Given the description of an element on the screen output the (x, y) to click on. 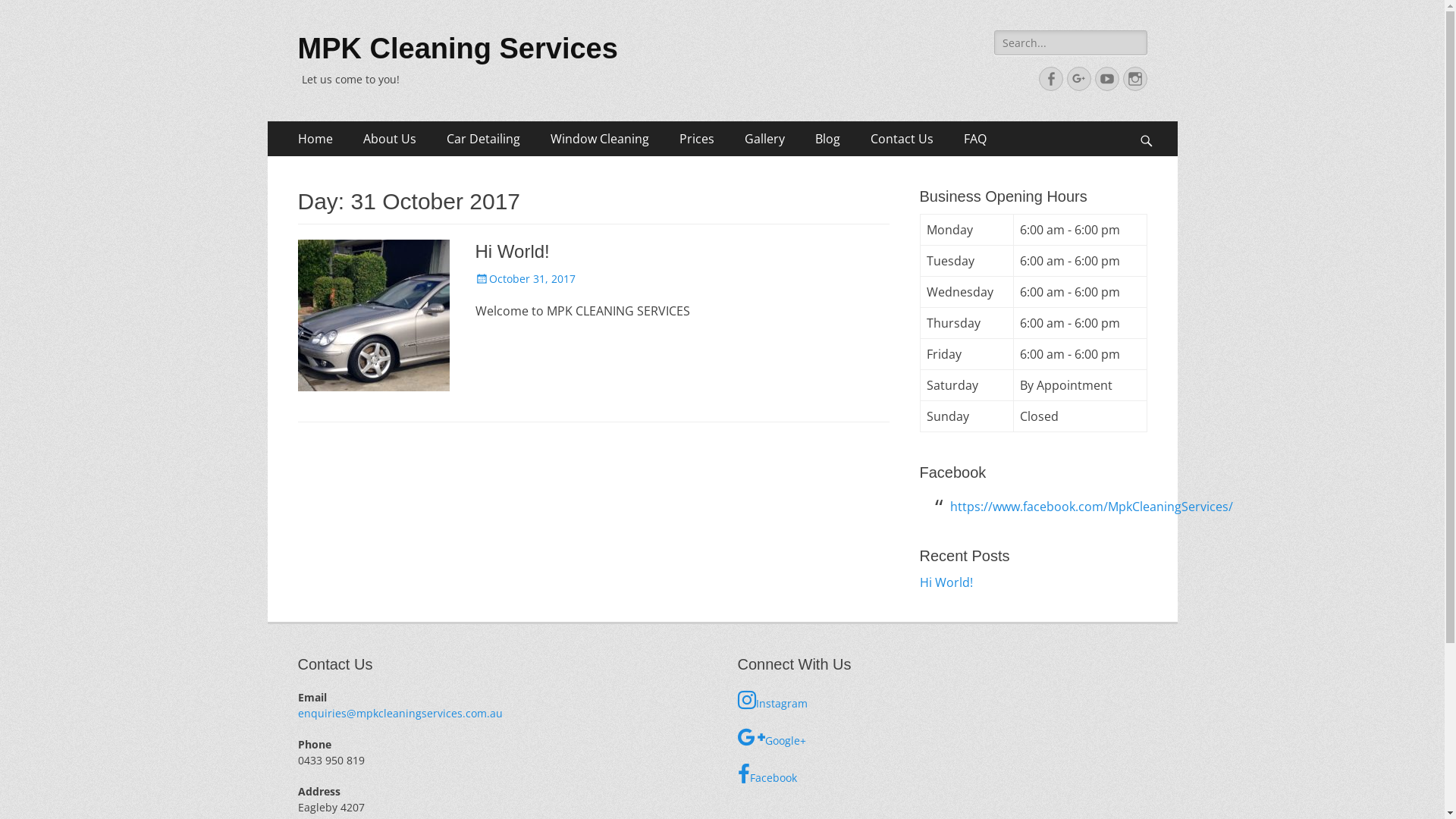
Search Element type: text (34, 13)
Instagram Element type: text (1134, 78)
FAQ Element type: text (974, 138)
Gallery Element type: text (764, 138)
Google+ Element type: text (941, 737)
Googleplus Element type: text (1078, 78)
YouTube Element type: text (1107, 78)
Contact Us Element type: text (901, 138)
Facebook Element type: text (941, 774)
Search for: Element type: hover (1070, 42)
Hi World! Element type: text (511, 251)
Home Element type: text (314, 138)
Instagram Element type: text (941, 700)
About Us Element type: text (388, 138)
Window Cleaning Element type: text (599, 138)
https://www.facebook.com/MpkCleaningServices/ Element type: text (1090, 506)
MPK Cleaning Services Element type: text (457, 48)
Car Detailing Element type: text (482, 138)
Facebook Element type: text (1050, 78)
enquiries@mpkcleaningservices.com.au Element type: text (399, 713)
October 31, 2017 Element type: text (524, 278)
Blog Element type: text (826, 138)
Hi World! Element type: text (945, 582)
Search Element type: text (1152, 120)
Prices Element type: text (696, 138)
